Given the description of an element on the screen output the (x, y) to click on. 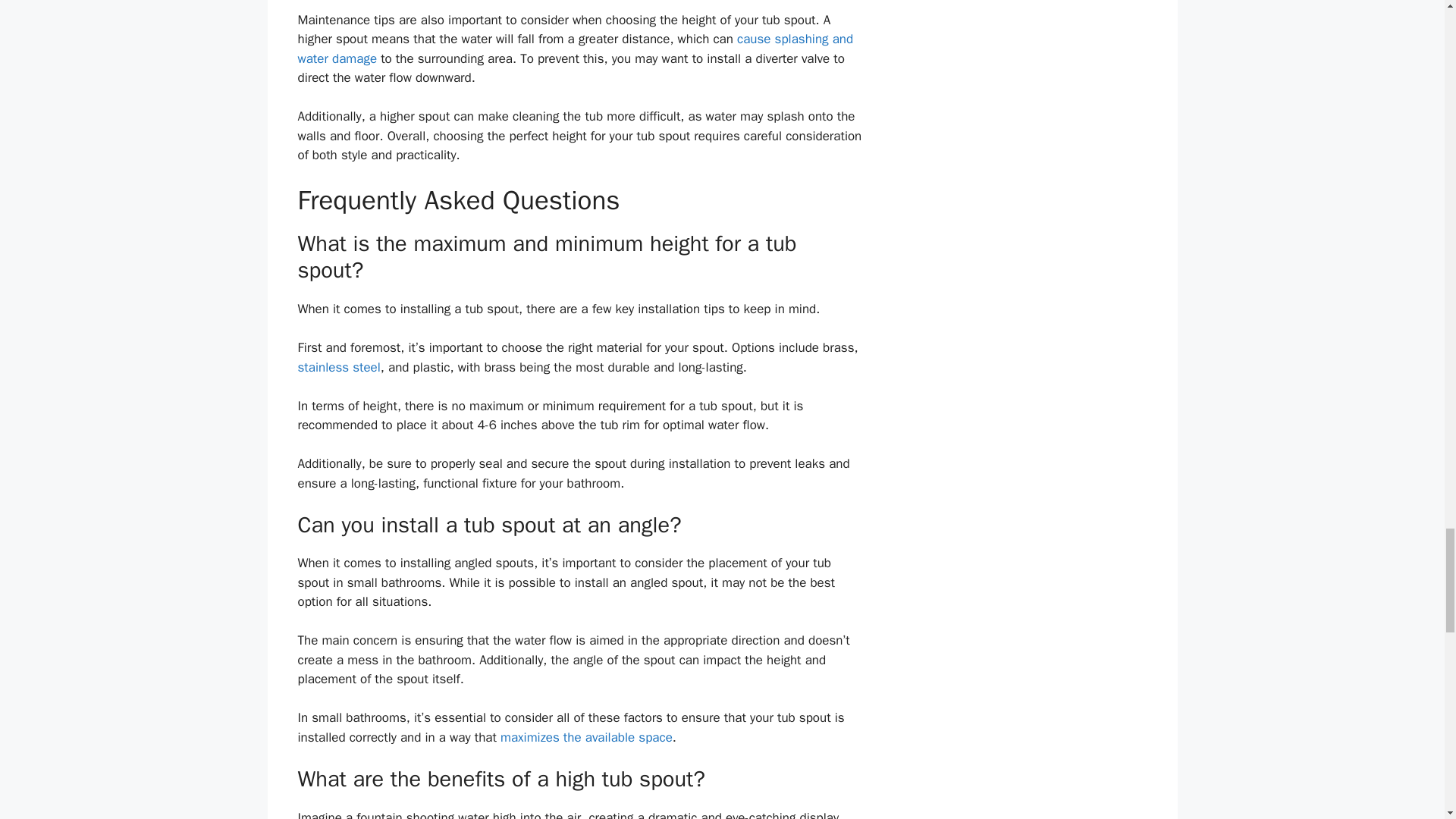
maximizes the available space (586, 737)
stainless steel (338, 367)
cause splashing and water damage (575, 48)
